Given the description of an element on the screen output the (x, y) to click on. 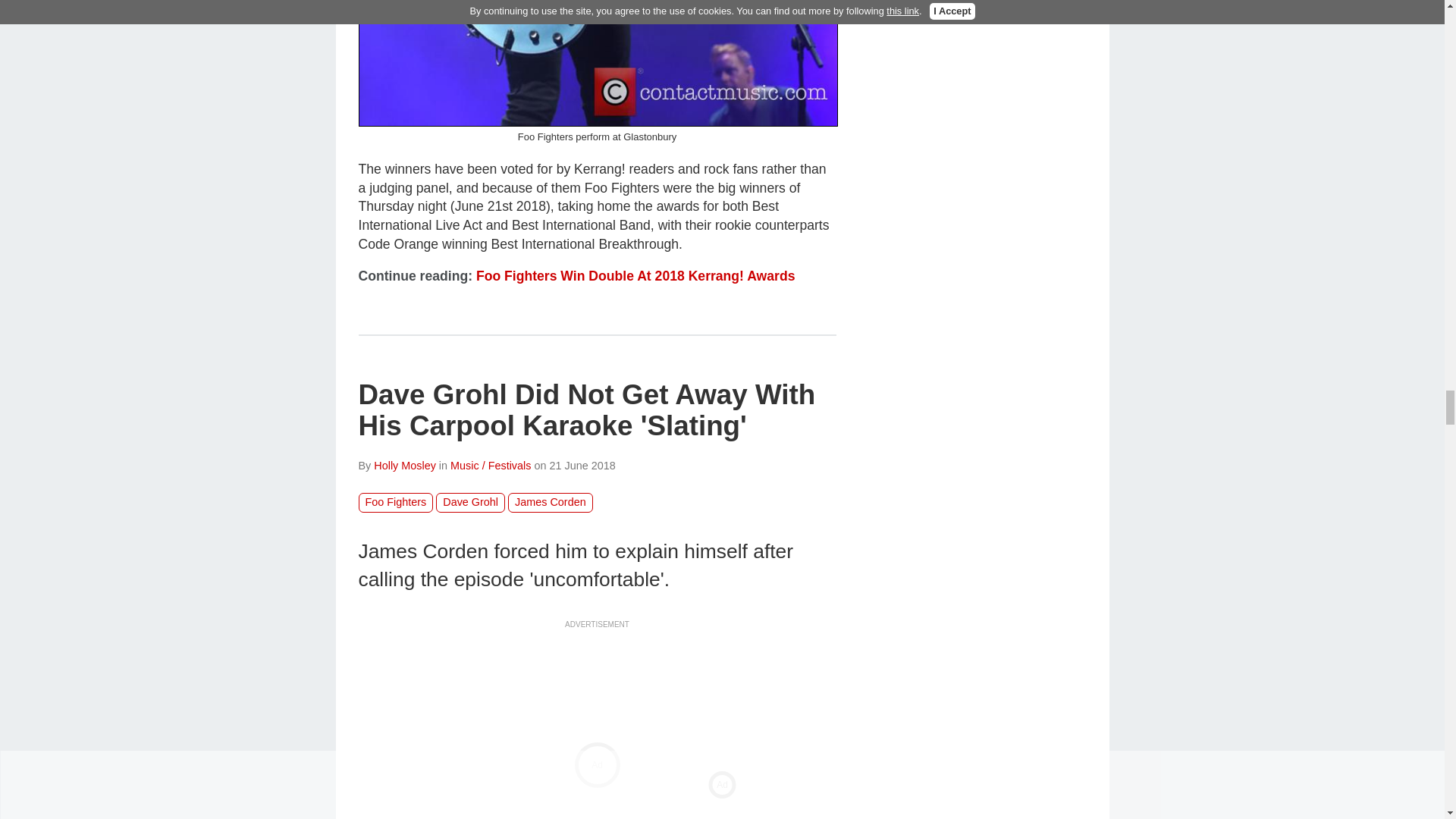
Foo Fighters perform at Glastonbury (597, 63)
